Given the description of an element on the screen output the (x, y) to click on. 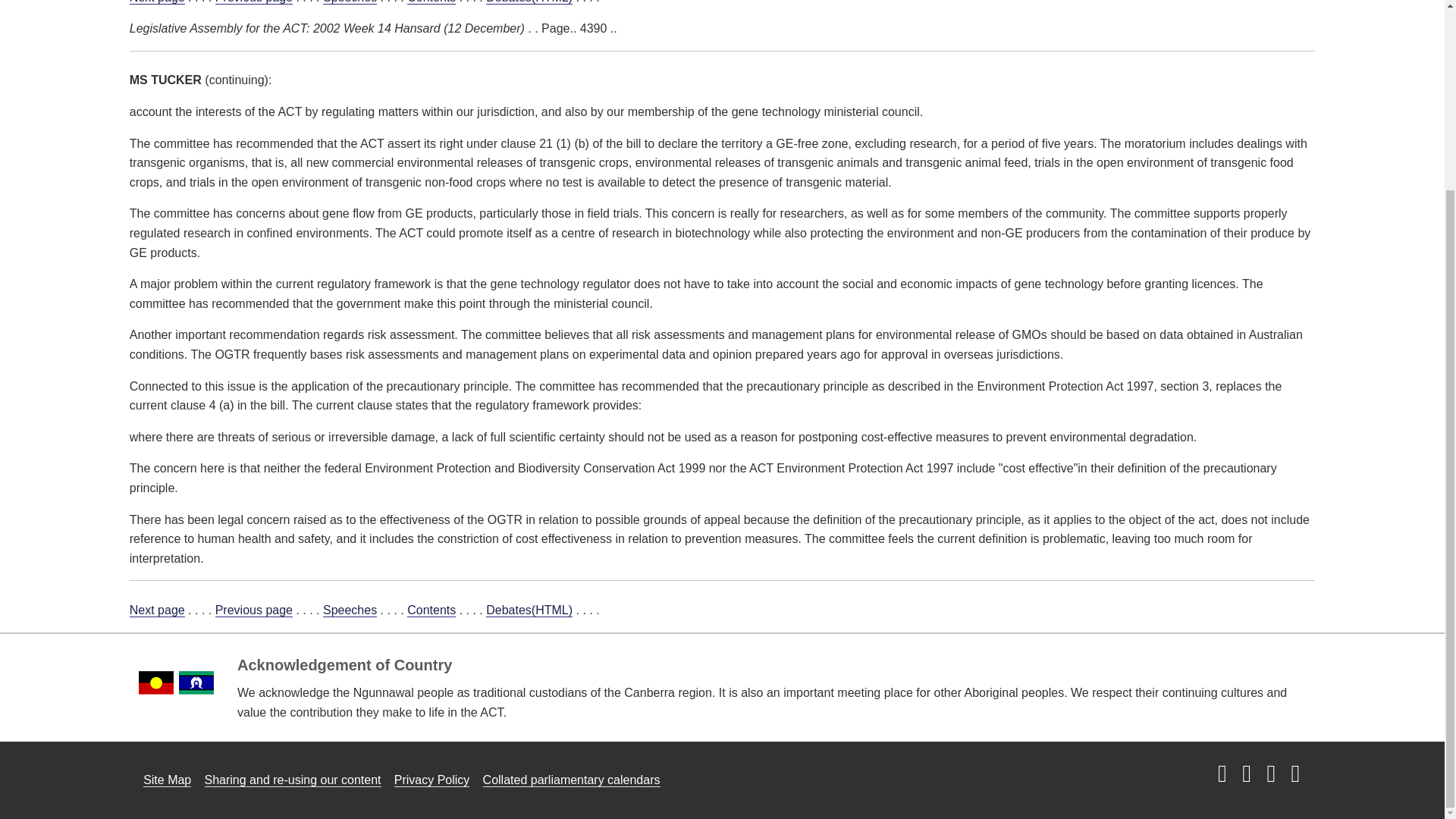
Site Map (166, 780)
Contents (431, 2)
Privacy Policy (432, 780)
Next page (156, 610)
Collated parliamentary calendars (572, 780)
Link to Sharing and re-using our content (293, 780)
Previous page (253, 2)
Collated parliamentary calendars (572, 780)
Link to Privacy Policy (432, 780)
Previous page (253, 610)
